Given the description of an element on the screen output the (x, y) to click on. 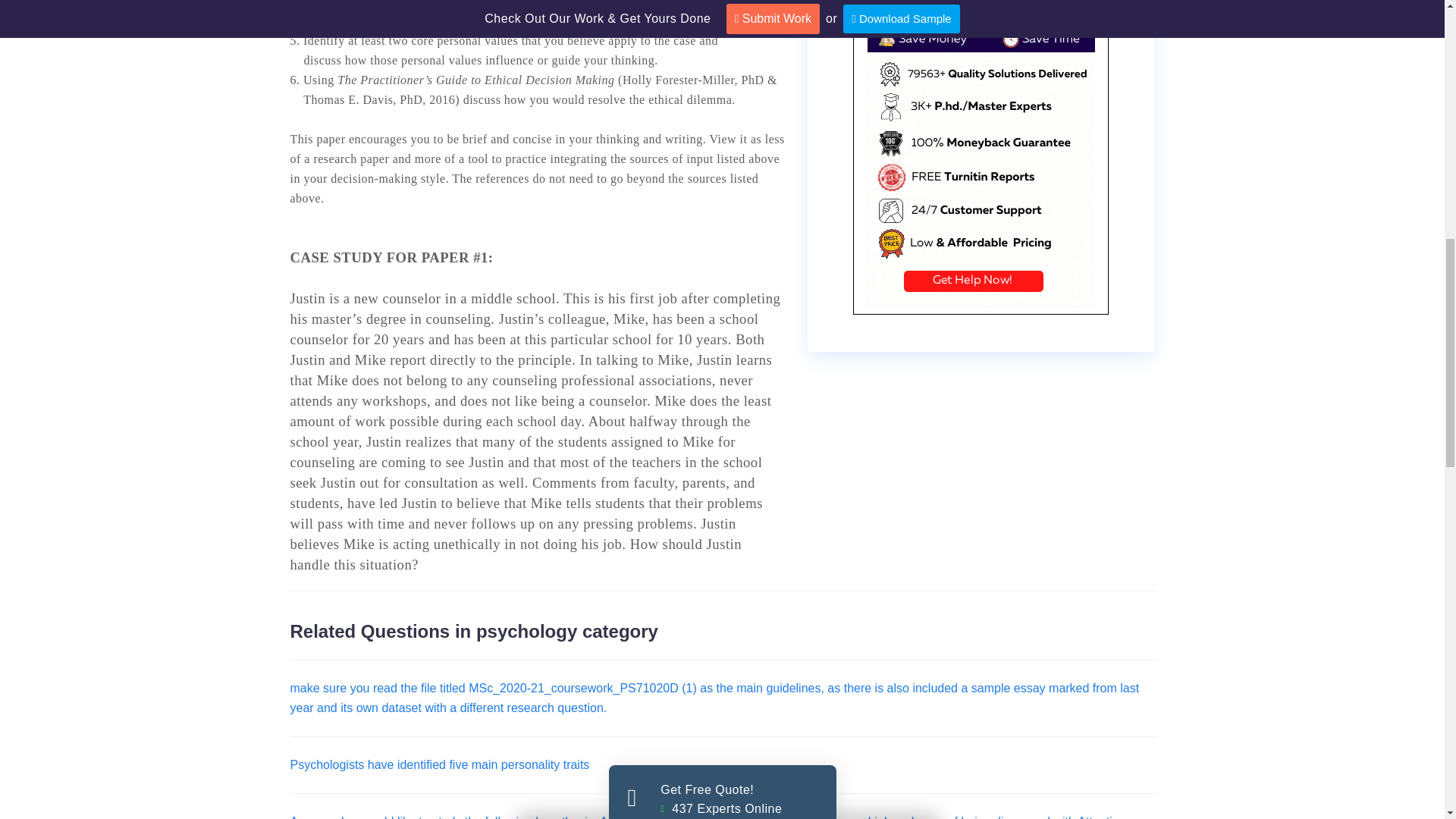
Psychologists have identified five main personality traits (439, 764)
Submit Assignment (722, 635)
